Given the description of an element on the screen output the (x, y) to click on. 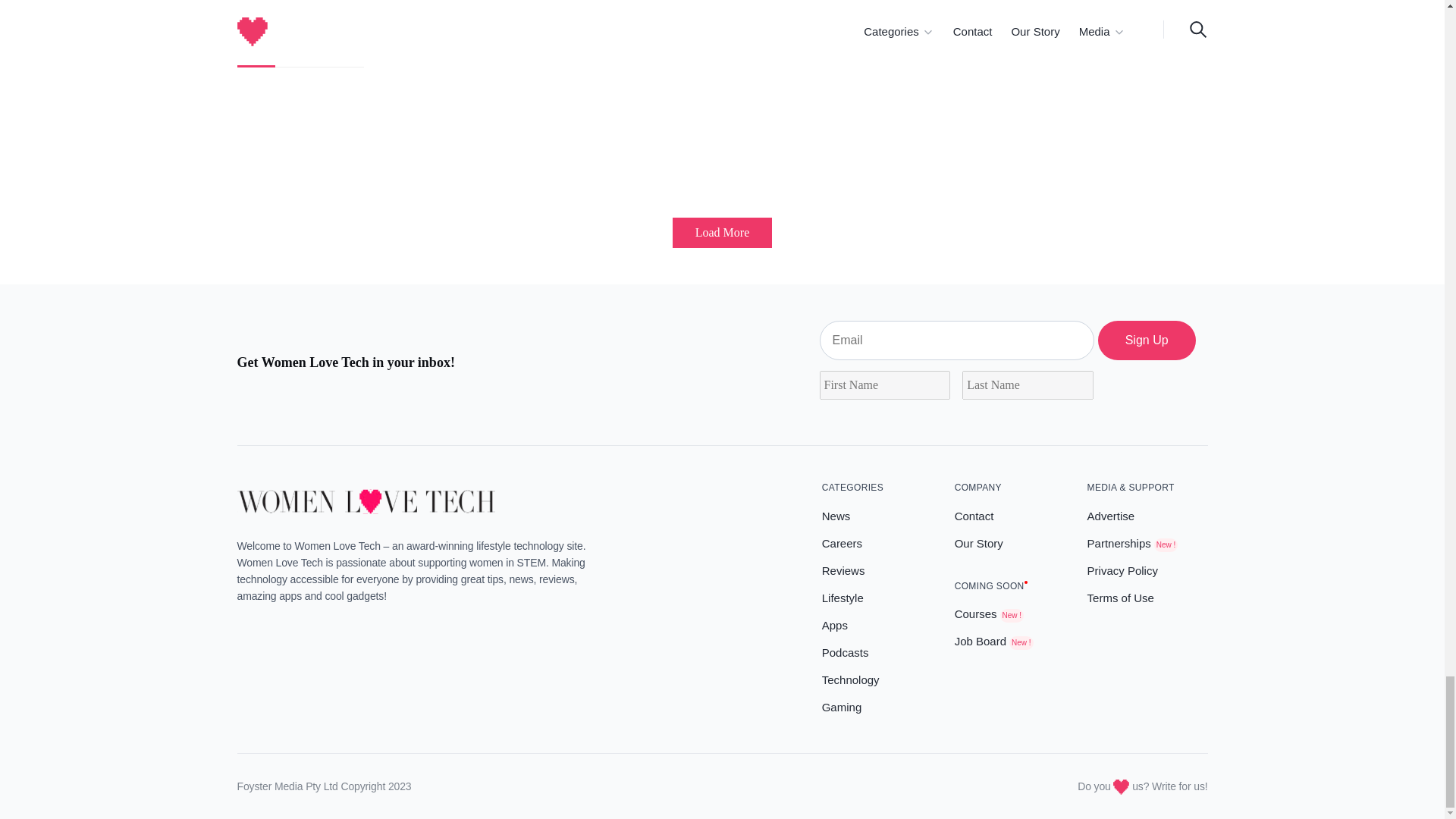
Sign Up (1146, 340)
